Given the description of an element on the screen output the (x, y) to click on. 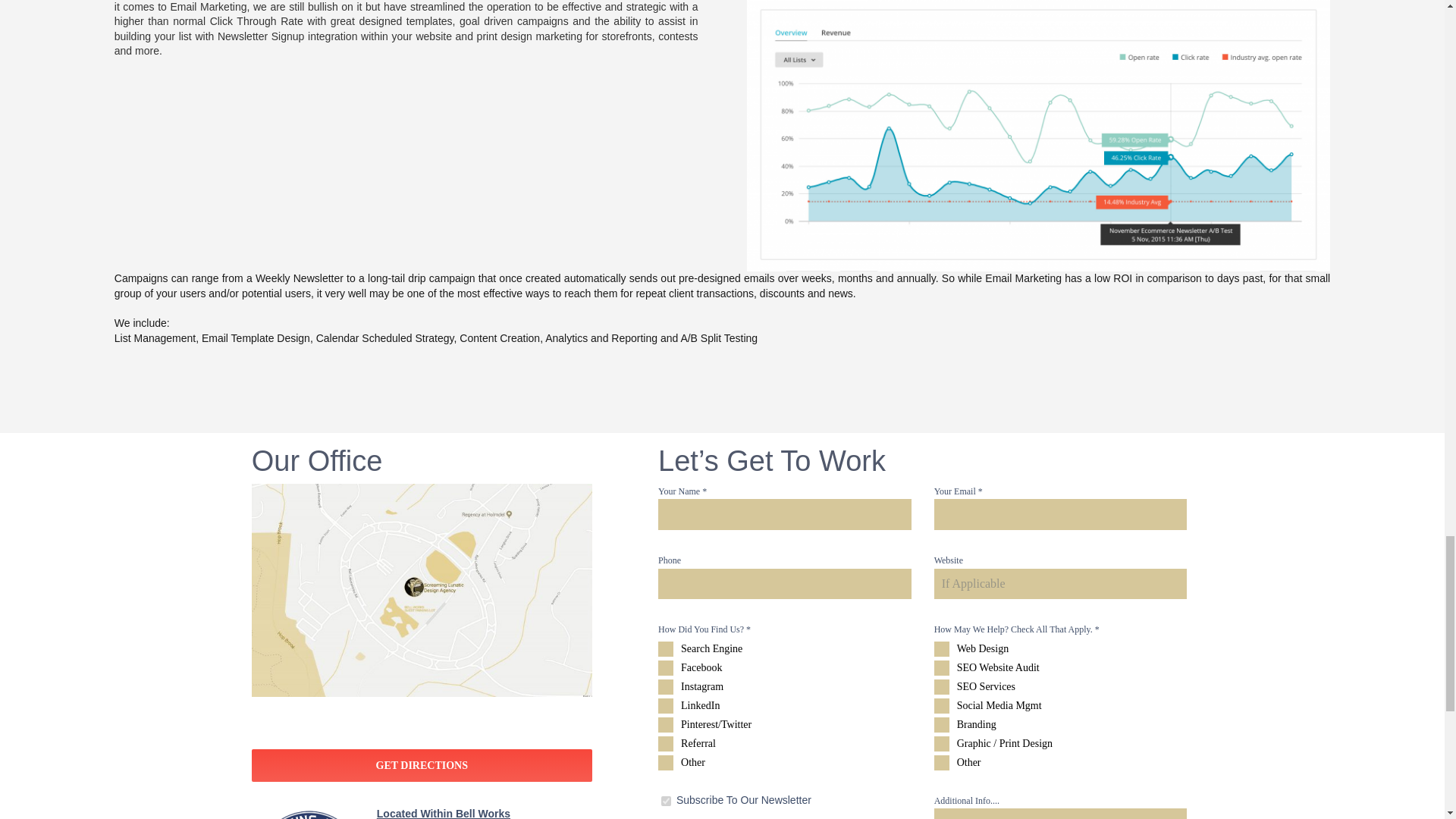
Car (666, 800)
